Given the description of an element on the screen output the (x, y) to click on. 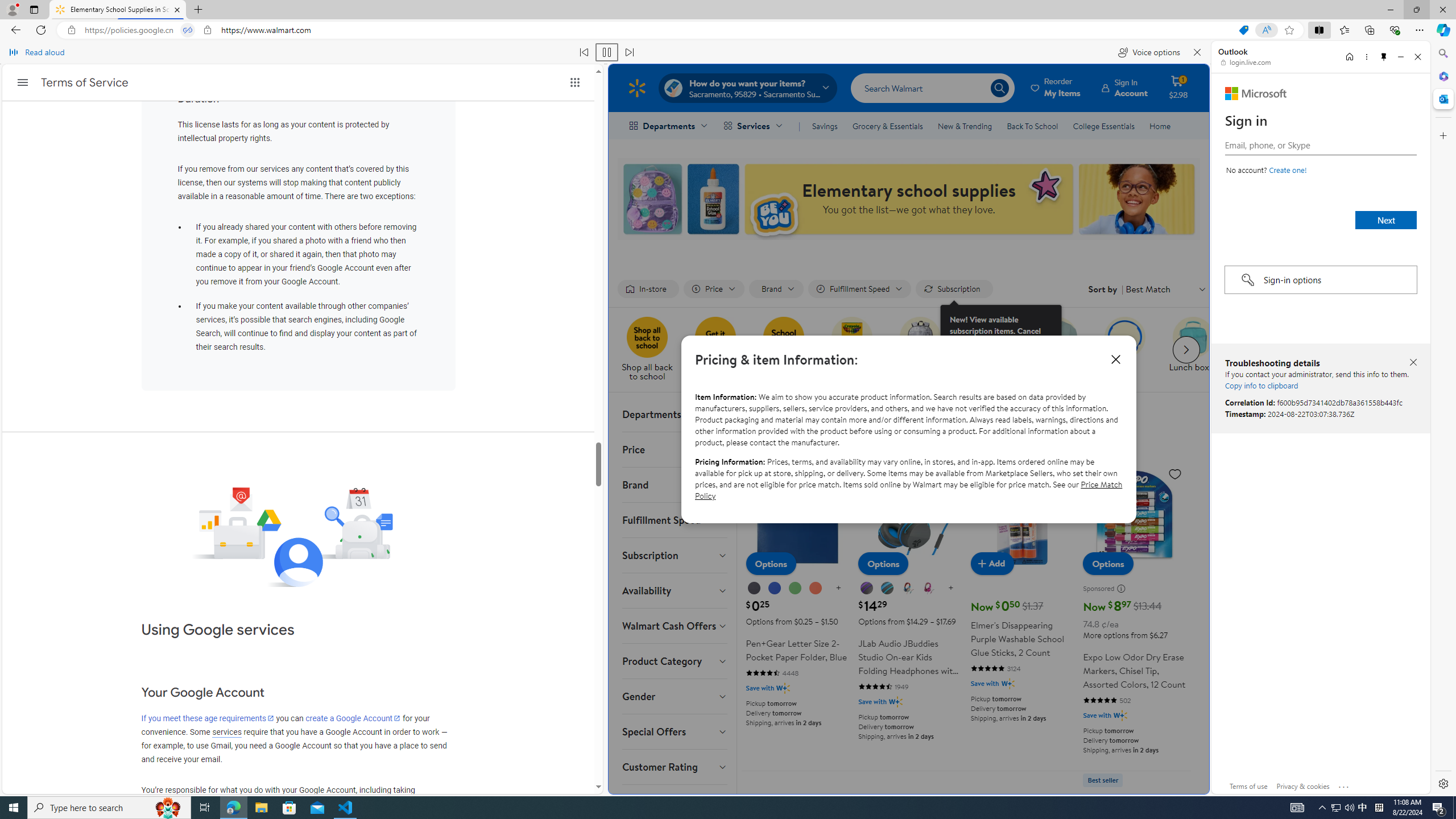
Terms of use (1249, 785)
Read next paragraph (628, 52)
Copy info to clipboard (1261, 384)
Close Search pane (1442, 53)
Create a Microsoft account (1287, 169)
Sign-in options (1320, 279)
Tabs in split screen (187, 29)
Enter your email, phone, or Skype. (1320, 145)
